Given the description of an element on the screen output the (x, y) to click on. 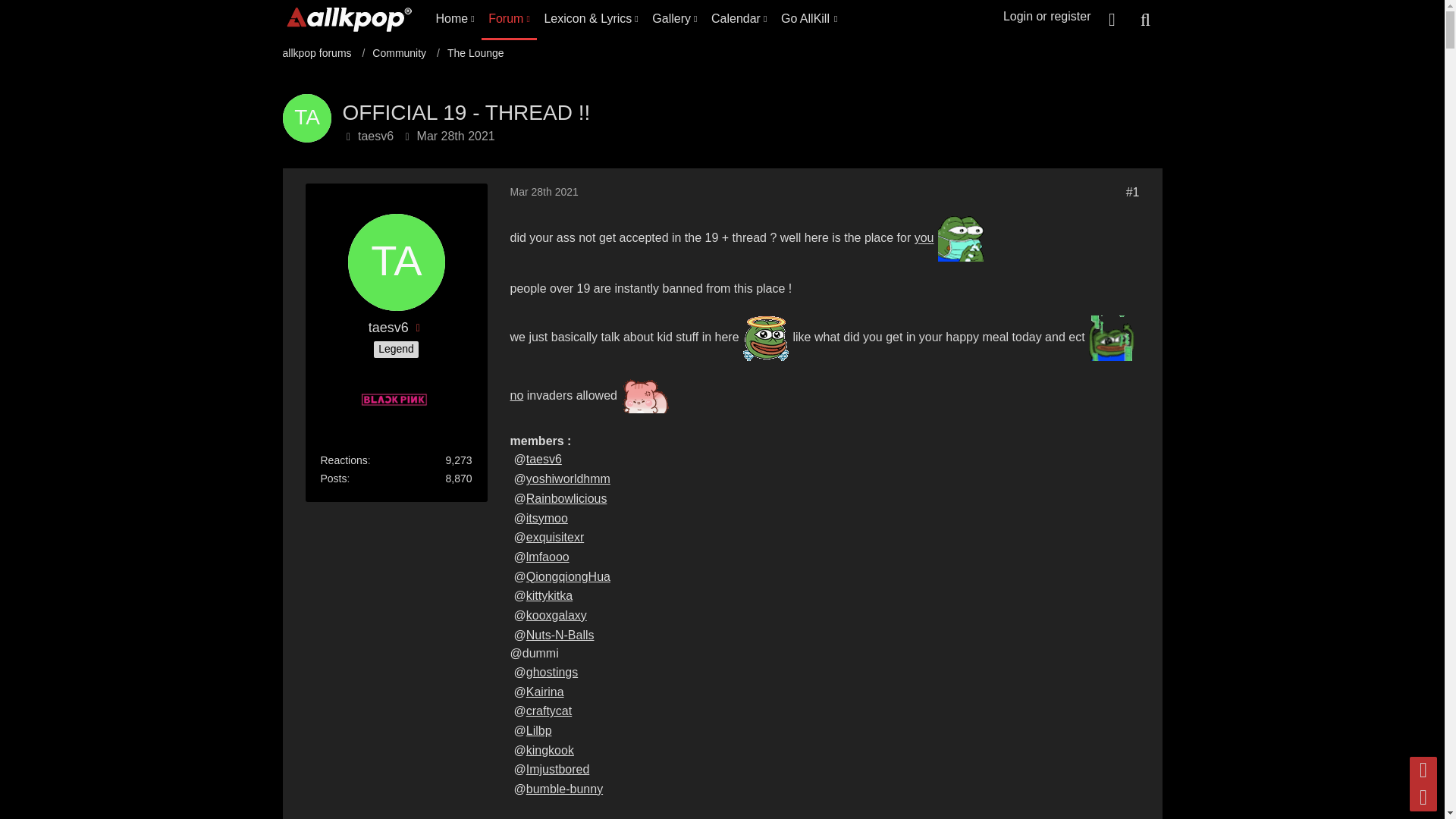
Forum (509, 18)
Gallery (674, 18)
Community (405, 53)
allkpop forums (323, 53)
Go AllKill (808, 18)
The Lounge (474, 53)
Angel (765, 338)
Pepe Rich (1111, 338)
Mad Squirrel (645, 396)
Pepe Wash (960, 238)
